Given the description of an element on the screen output the (x, y) to click on. 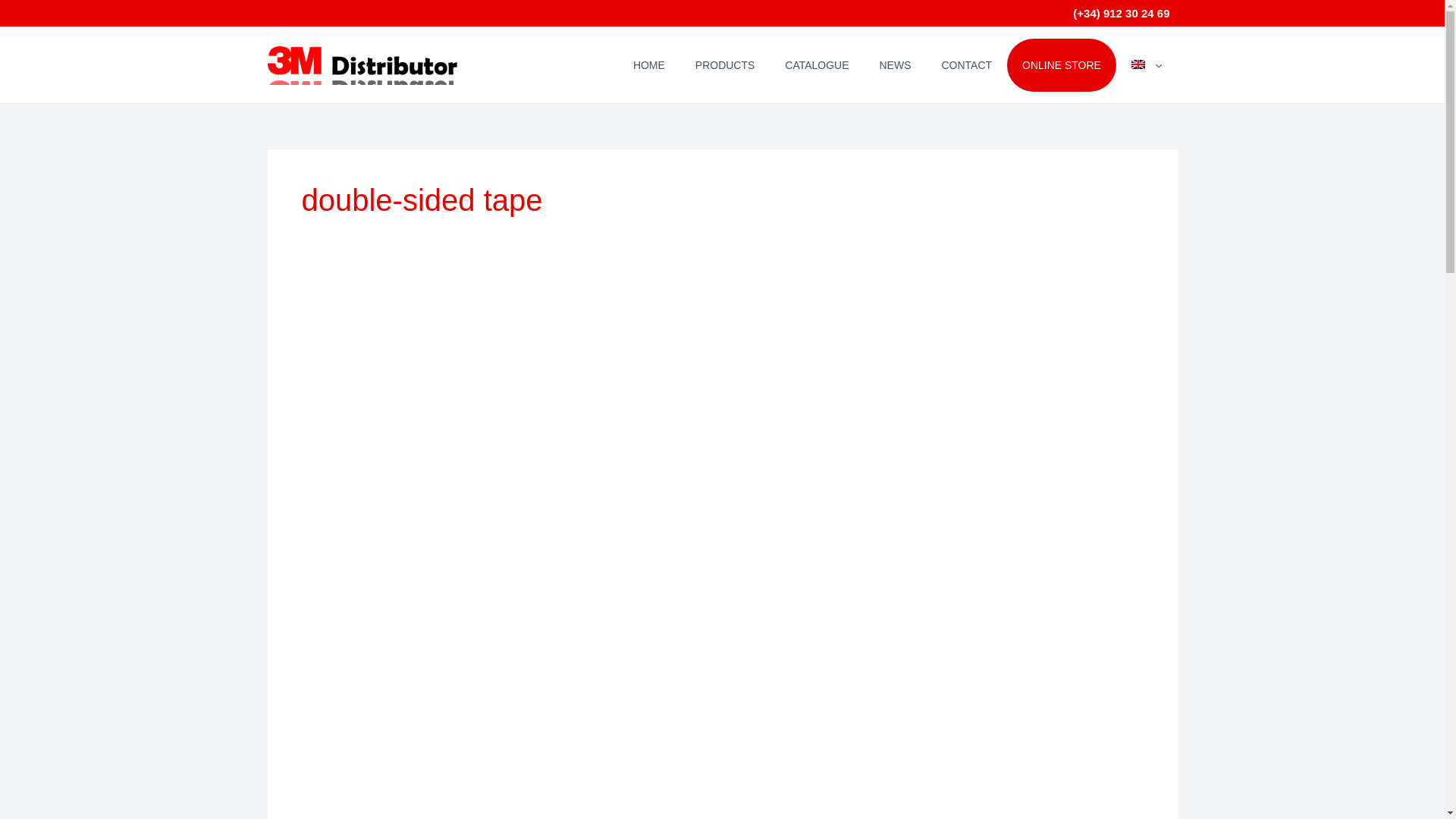
CONTACT (966, 64)
HOME (648, 64)
PRODUCTS (724, 64)
CATALOGUE (816, 64)
NEWS (895, 64)
ONLINE STORE (1061, 64)
